Given the description of an element on the screen output the (x, y) to click on. 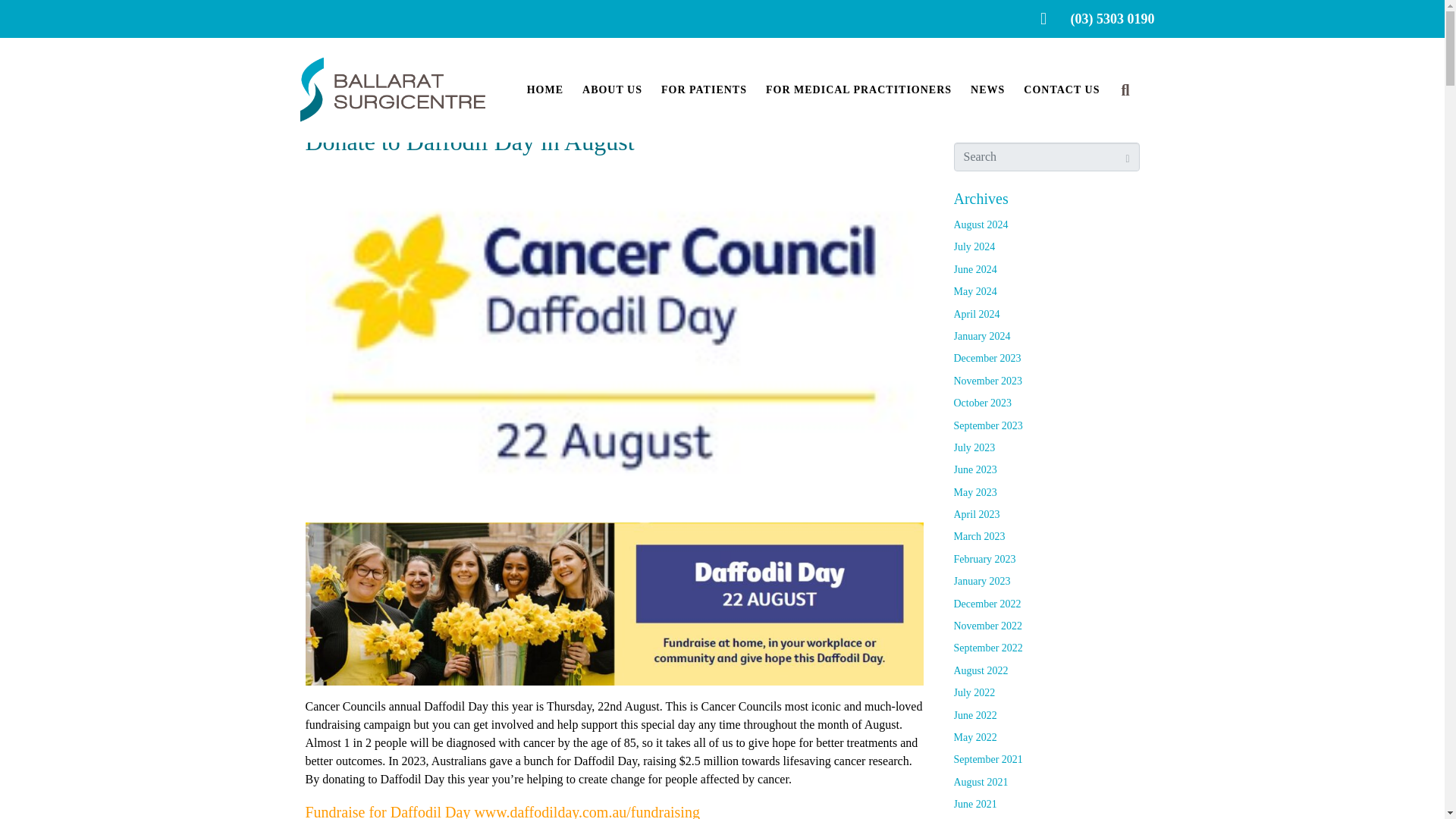
NEWS (987, 90)
Donate to Daffodil Day in August (468, 141)
FOR PATIENTS (703, 90)
FOR MEDICAL PRACTITIONERS (858, 90)
Donate to Daffodil Day in August (468, 141)
CONTACT US (1061, 90)
Donate to Daffodil Day in August (613, 337)
ABOUT US (612, 90)
HOME (545, 90)
